Given the description of an element on the screen output the (x, y) to click on. 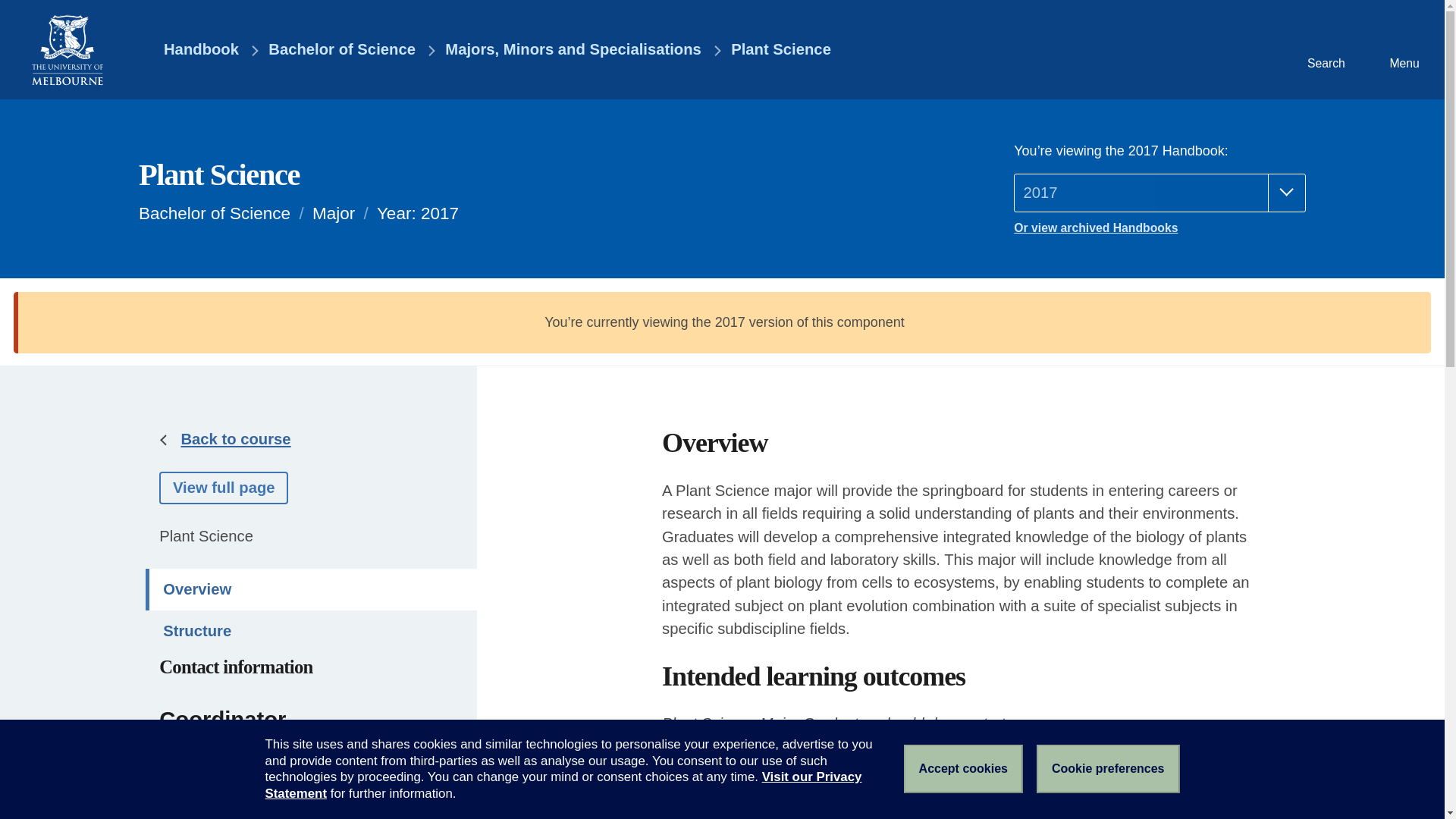
Handbook (189, 49)
Overview (311, 589)
Search (1324, 49)
Bachelor of Science (340, 49)
View full page (223, 487)
Plant Science (780, 49)
Majors, Minors and Specialisations (573, 49)
Search (1324, 49)
Or view archived Handbooks (1159, 228)
Back to course (234, 438)
